Given the description of an element on the screen output the (x, y) to click on. 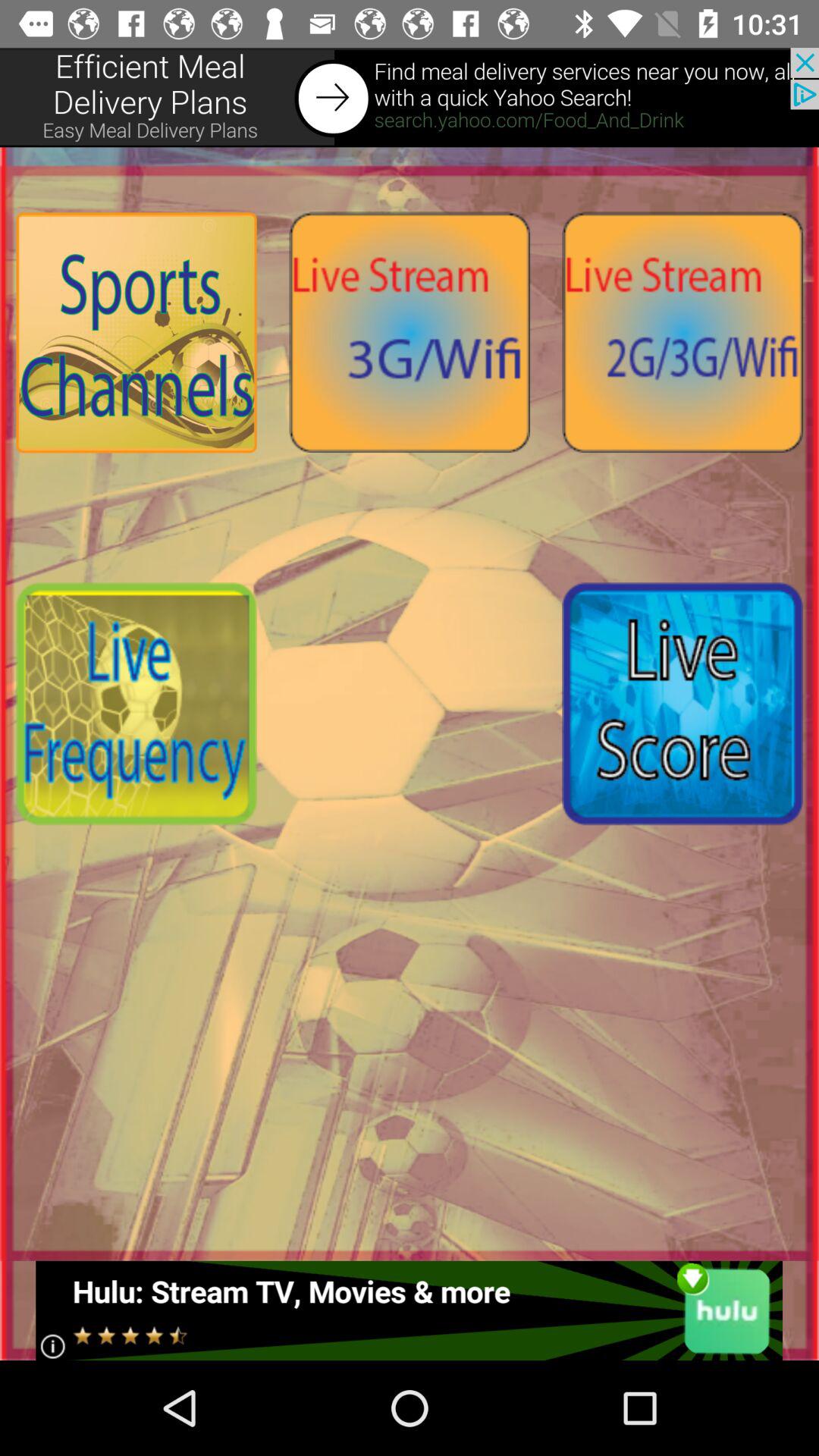
view live frequency (136, 703)
